Given the description of an element on the screen output the (x, y) to click on. 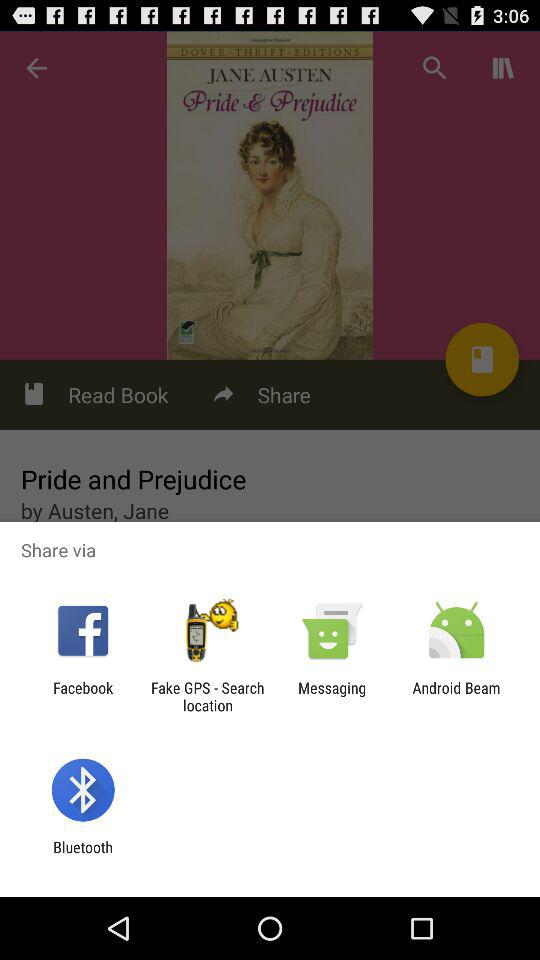
swipe until android beam icon (456, 696)
